Given the description of an element on the screen output the (x, y) to click on. 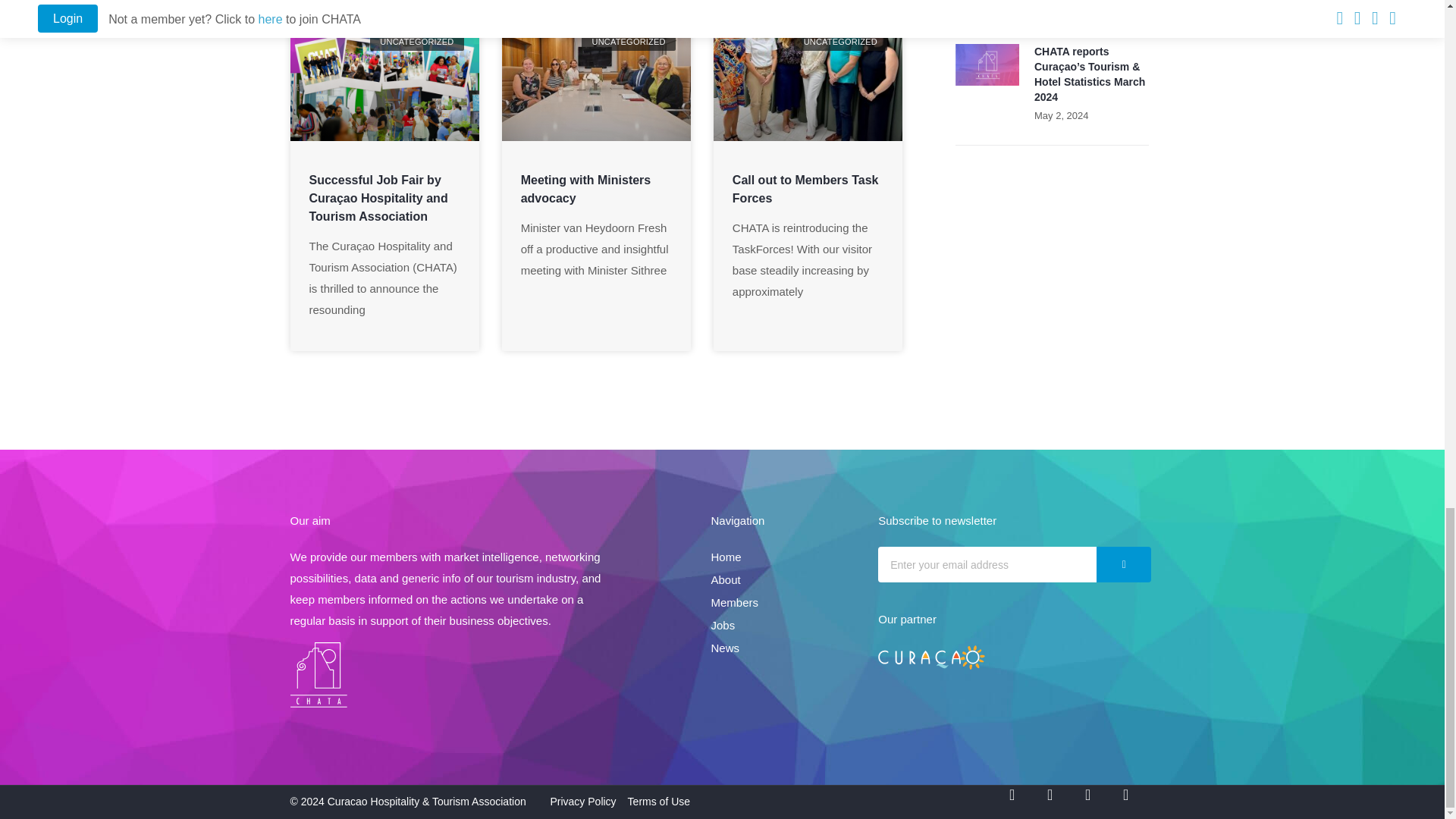
Meeting with Ministers advocacy (585, 188)
Call out to Members Task Forces (805, 188)
